Given the description of an element on the screen output the (x, y) to click on. 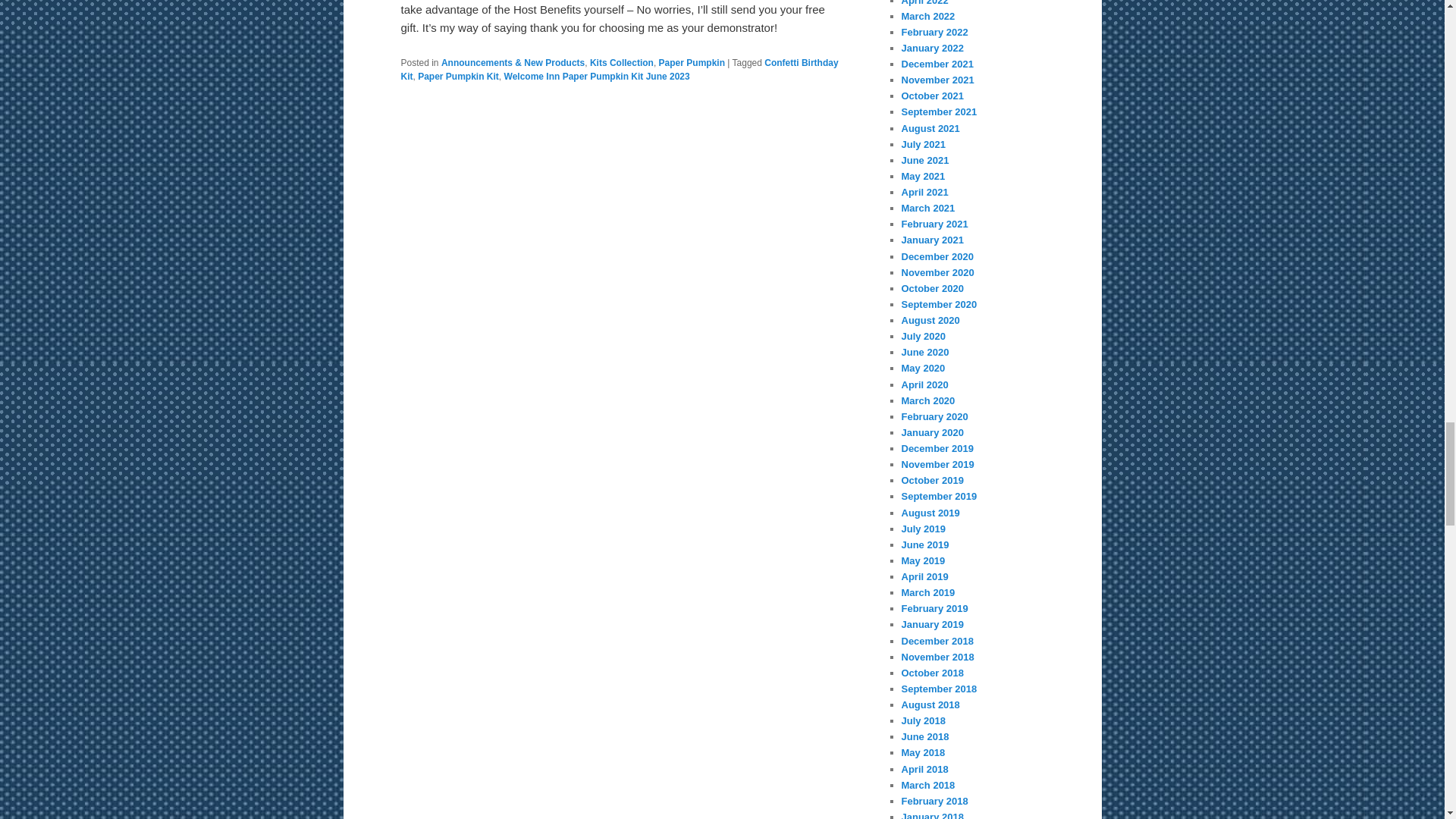
Paper Pumpkin (692, 62)
Kits Collection (621, 62)
Confetti Birthday Kit (619, 69)
